Given the description of an element on the screen output the (x, y) to click on. 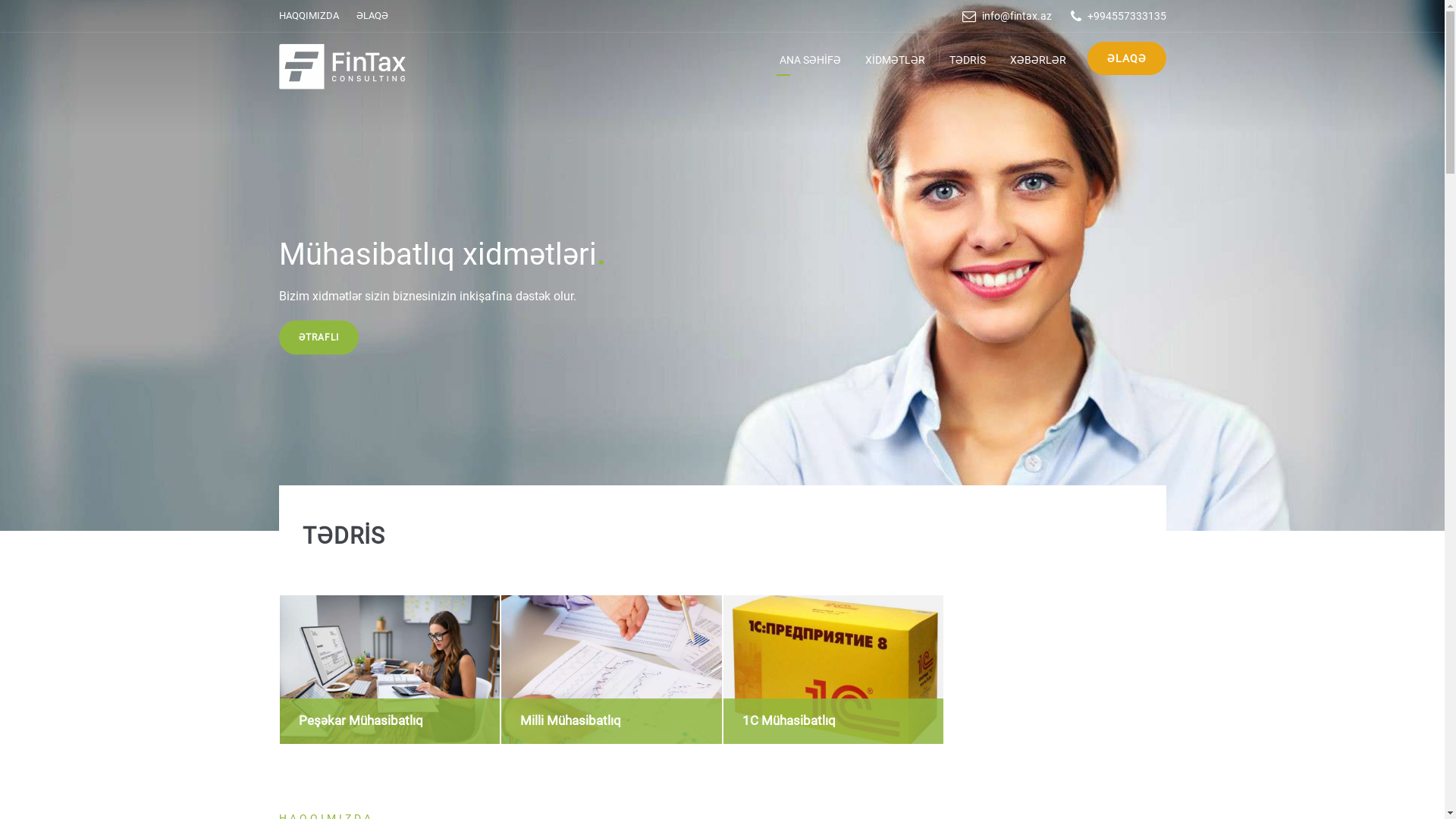
+994557333135 Element type: text (1126, 15)
info@fintax.az Element type: text (1016, 15)
HAQQIMIZDA Element type: text (308, 15)
